Given the description of an element on the screen output the (x, y) to click on. 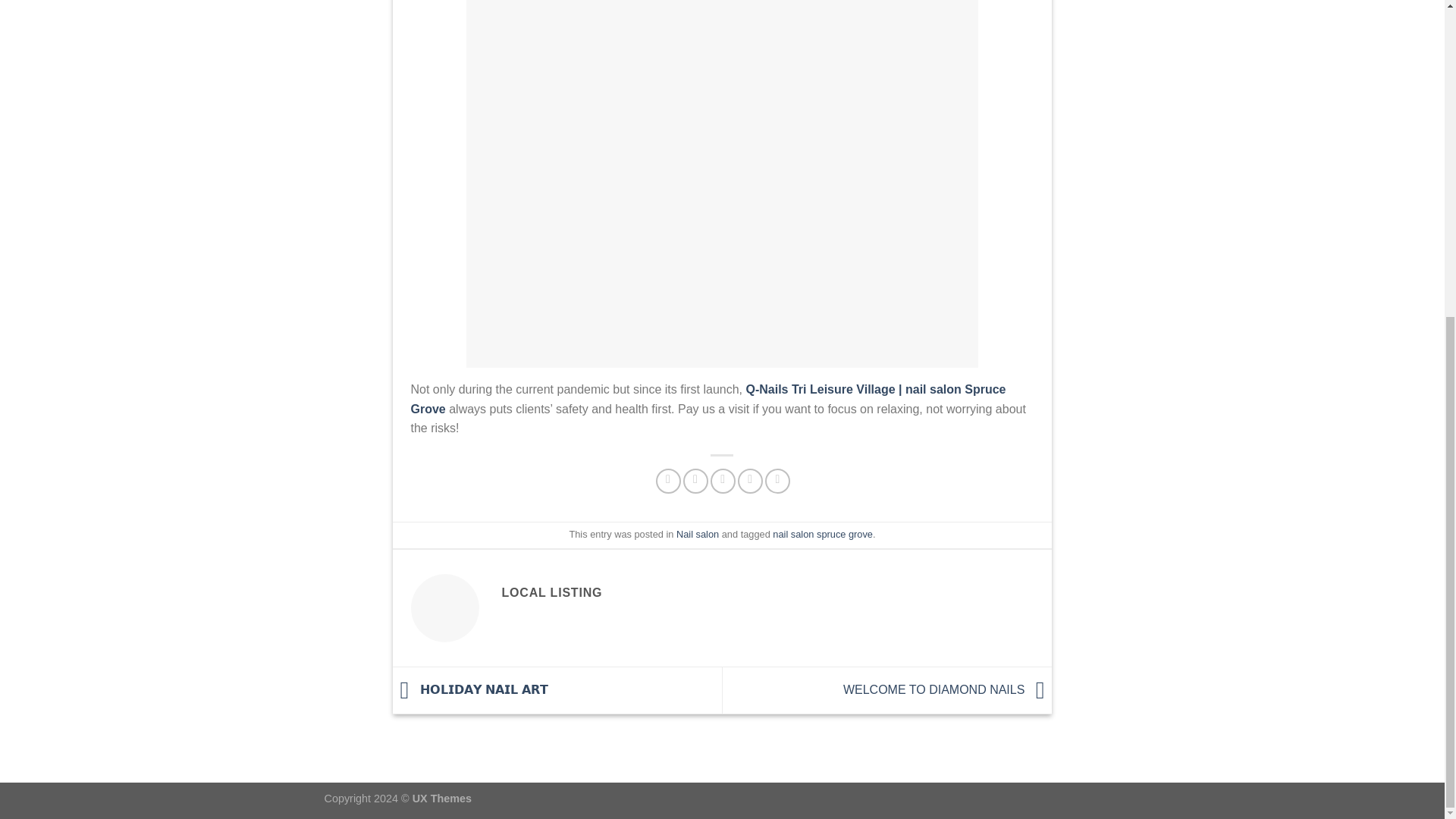
WELCOME TO DIAMOND NAILS (947, 689)
nail salon spruce grove (822, 533)
Nail salon (698, 533)
